Given the description of an element on the screen output the (x, y) to click on. 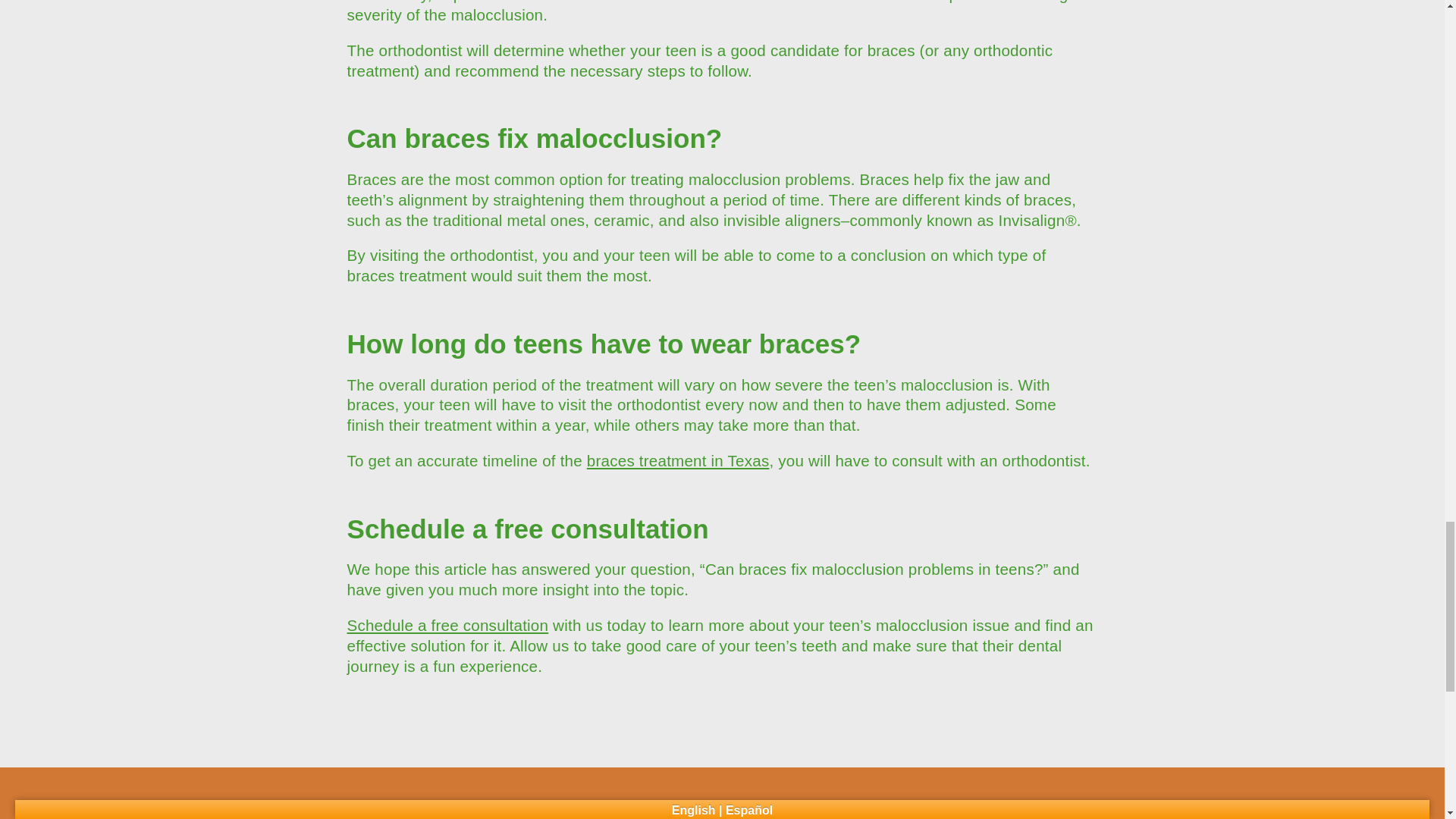
Schedule a free consultation (447, 624)
braces treatment in Texas (678, 460)
